Given the description of an element on the screen output the (x, y) to click on. 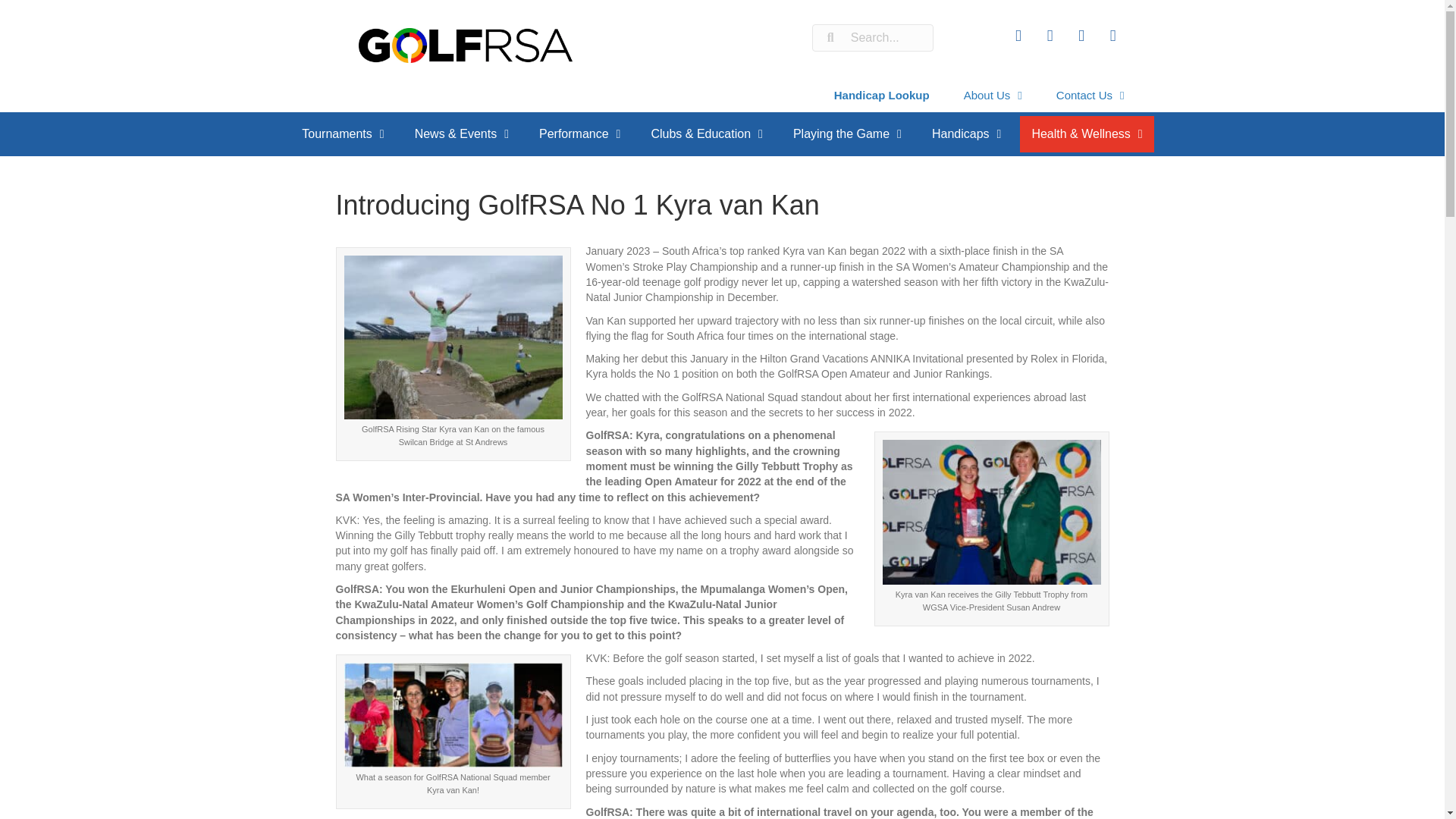
Tournaments (341, 134)
1 GOLF RSA primary logo on white (465, 45)
Contact Us (1090, 94)
Handicap Lookup (882, 94)
About Us (992, 94)
